Given the description of an element on the screen output the (x, y) to click on. 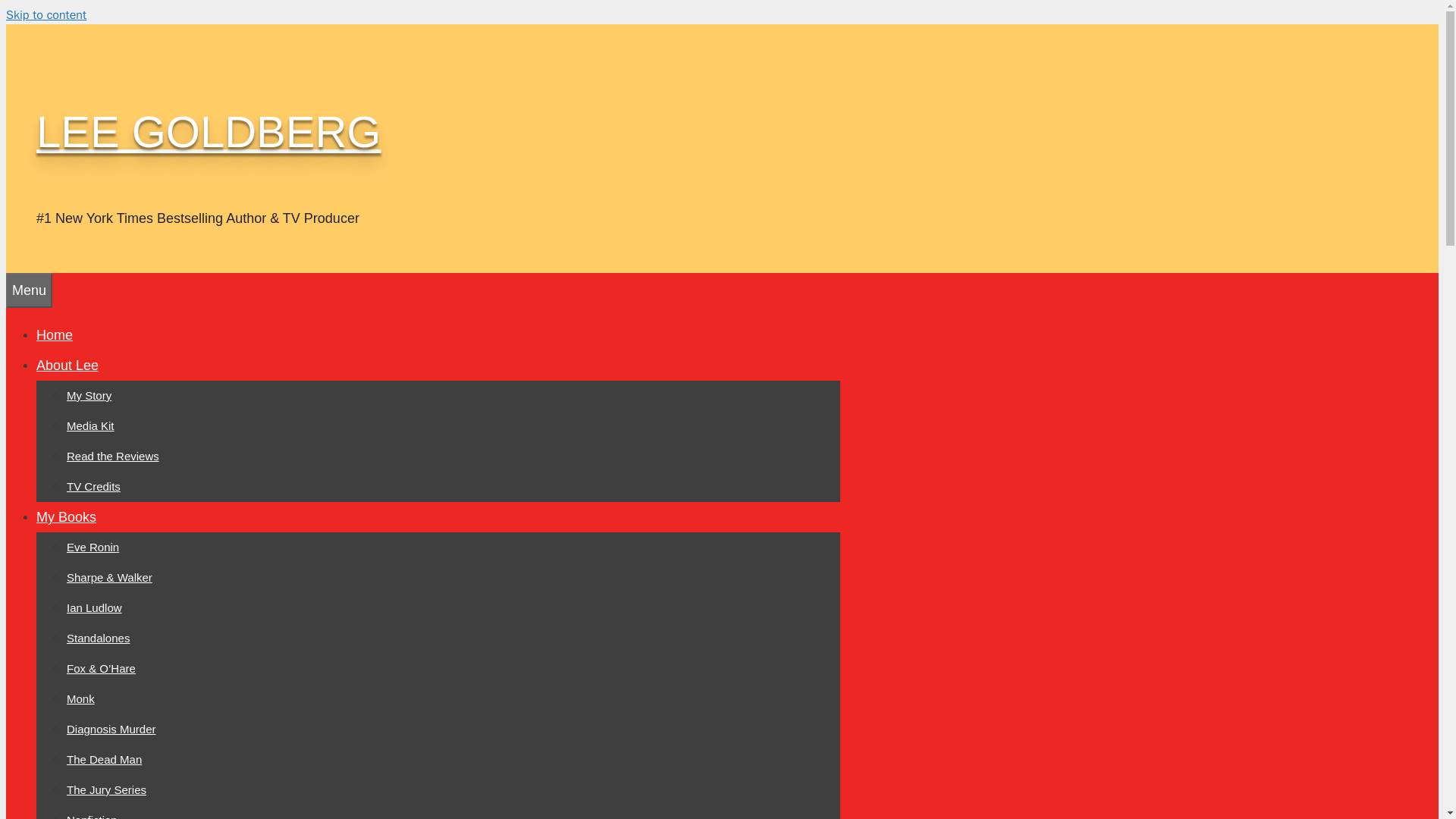
Skip to content (45, 14)
Media Kit (90, 425)
Nonfiction (91, 816)
The Dead Man (103, 758)
My Books (66, 516)
About Lee (67, 365)
Eve Ronin (92, 546)
Home (54, 335)
Skip to content (45, 14)
Menu (28, 289)
The Jury Series (106, 789)
My Story (89, 395)
Monk (80, 698)
Read the Reviews (112, 455)
Standalones (97, 637)
